Given the description of an element on the screen output the (x, y) to click on. 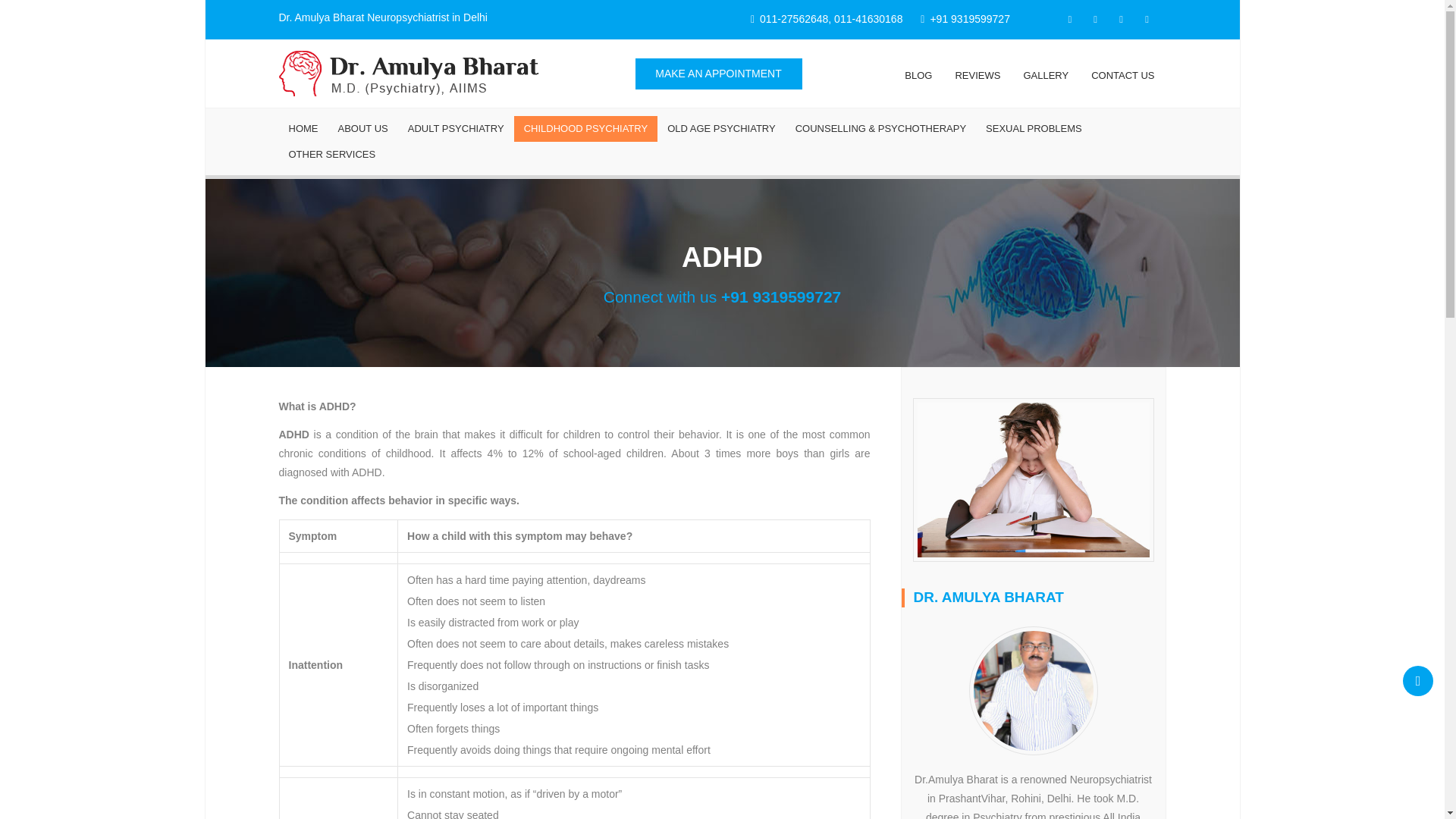
REVIEWS (977, 75)
GALLERY (1045, 75)
CHILDHOOD PSYCHIATRY (585, 128)
BLOG (918, 75)
OTHER SERVICES (332, 154)
MAKE AN APPOINTMENT (718, 73)
ABOUT US (362, 128)
SEXUAL PROBLEMS (1033, 128)
HOME (304, 128)
ADULT PSYCHIATRY (455, 128)
CONTACT US (1123, 75)
Dr Amulya Bharat (408, 72)
OLD AGE PSYCHIATRY (722, 128)
